Given the description of an element on the screen output the (x, y) to click on. 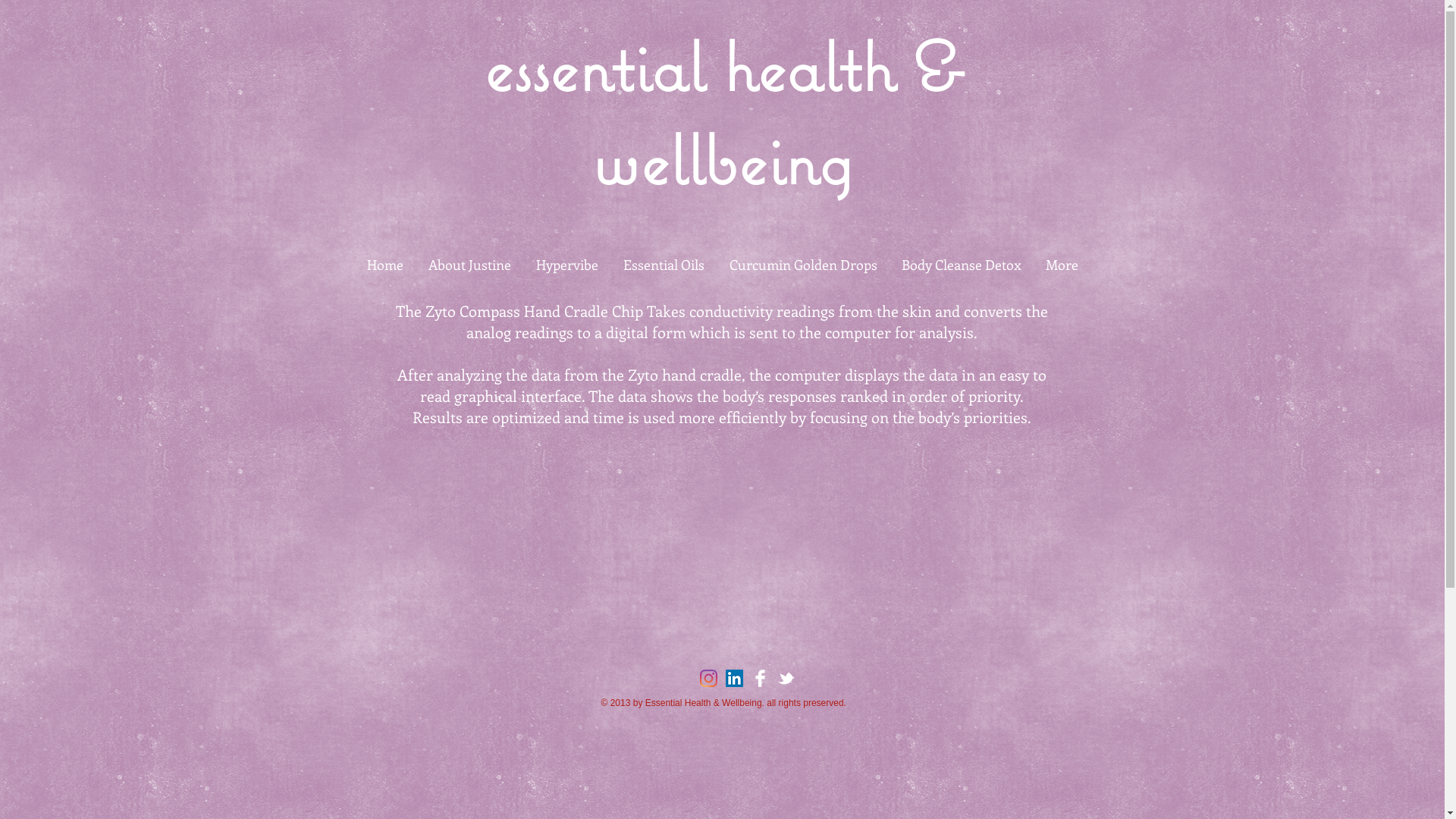
Hypervibe Element type: text (566, 264)
About Justine Element type: text (469, 264)
Essential Oils Element type: text (664, 264)
Curcumin Golden Drops Element type: text (803, 264)
Home Element type: text (385, 264)
Body Cleanse Detox Element type: text (960, 264)
